Given the description of an element on the screen output the (x, y) to click on. 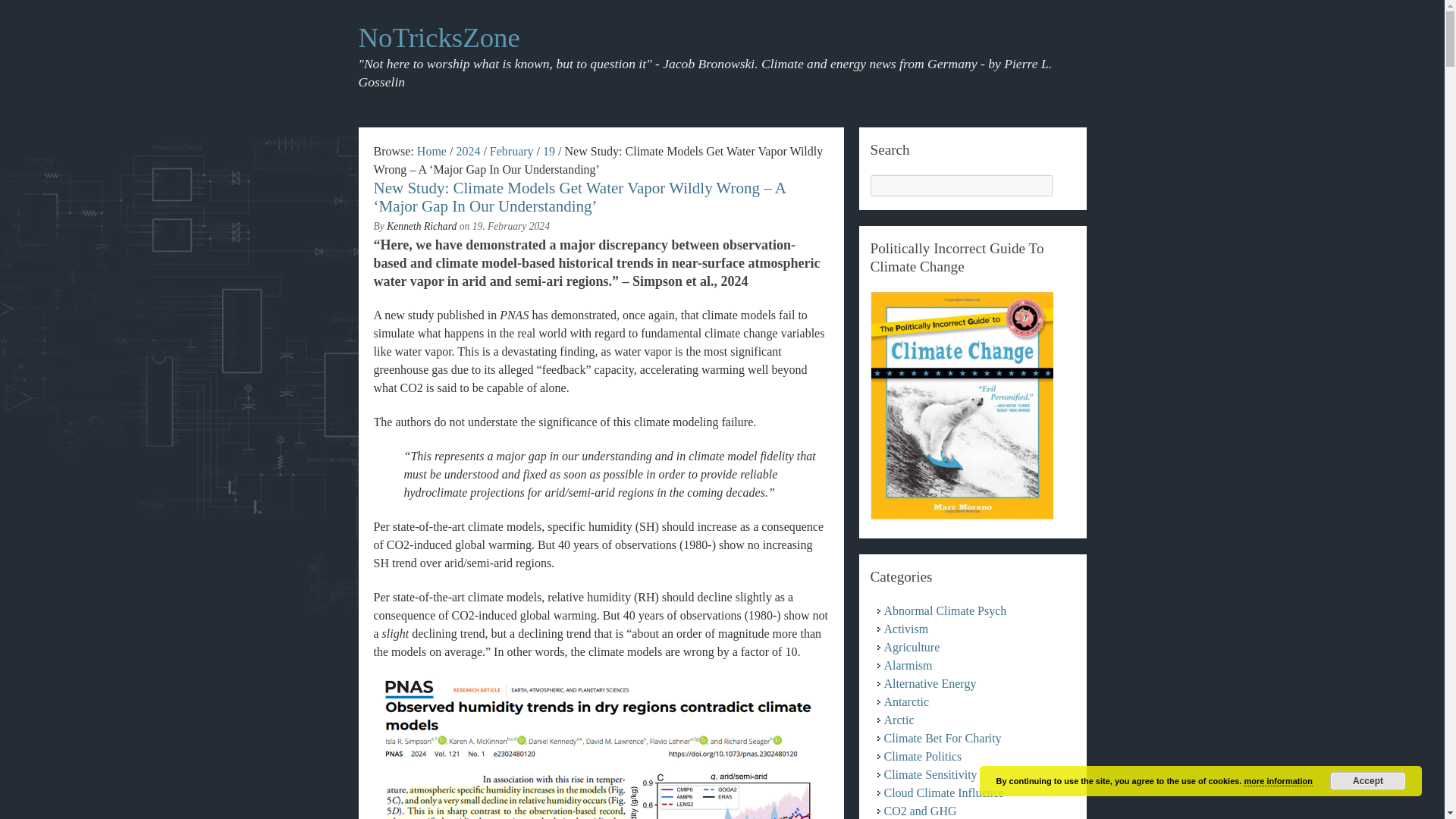
February 19, 2024 (548, 151)
February 2024 (511, 151)
Monday, February 19th, 2024, 7:30 pm (510, 225)
NoTricksZone (431, 151)
NoTricksZone (438, 37)
Kenneth Richard (422, 225)
February (511, 151)
2024 (467, 151)
NoTricksZone (438, 37)
2024 (467, 151)
